Given the description of an element on the screen output the (x, y) to click on. 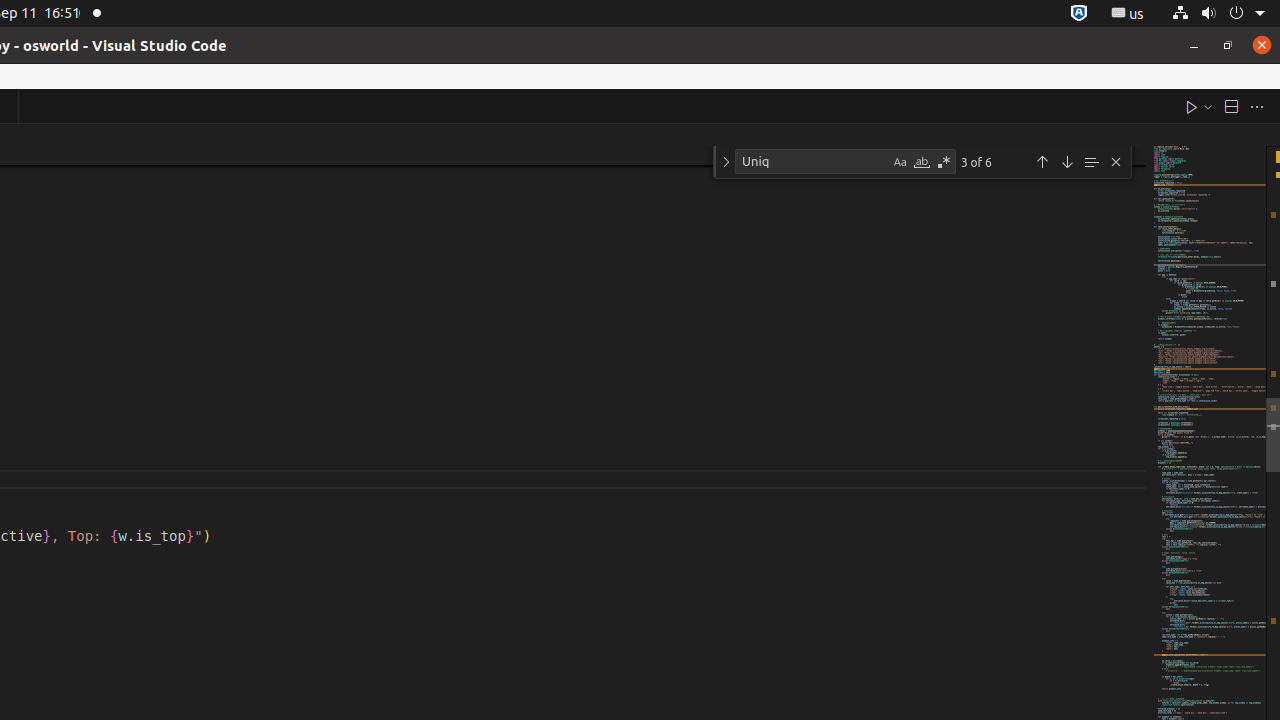
Close (Escape) Element type: push-button (1116, 162)
Find in Selection (Alt+L) Element type: check-box (1091, 161)
Next Match (Enter) Element type: push-button (1067, 161)
Use Regular Expression (Alt+R) Element type: check-box (944, 162)
